Given the description of an element on the screen output the (x, y) to click on. 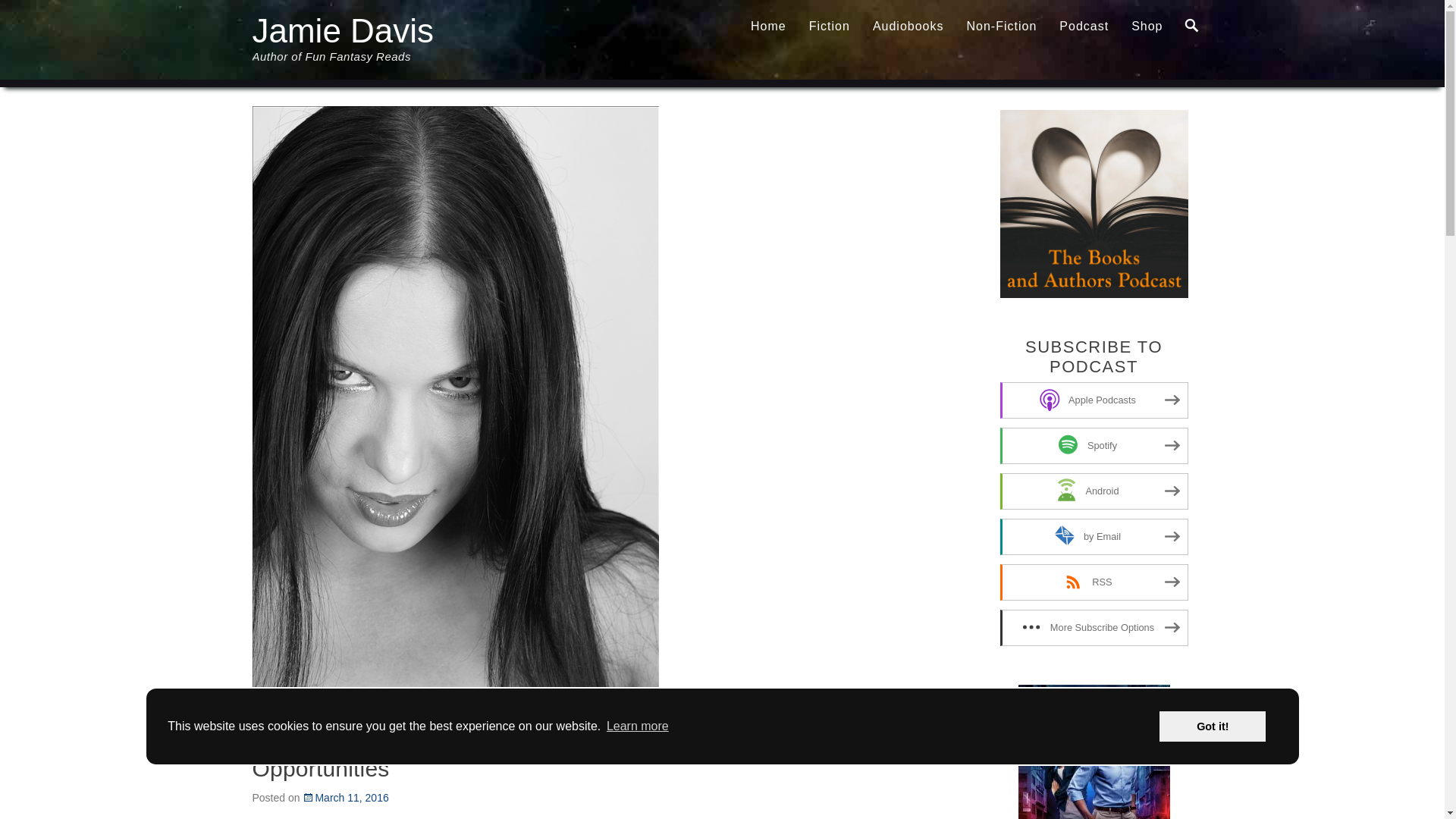
Home (768, 26)
Subscribe by Email (1093, 536)
Subscribe on Spotify (1093, 445)
Jamie Davis (342, 30)
Fiction (829, 26)
Audiobooks (908, 26)
Subscribe on Android (1093, 491)
Subscribe via RSS (1093, 582)
Shop (1146, 26)
Got it! (1211, 726)
Learn more (637, 725)
Non-Fiction (1001, 26)
Subscribe on Apple Podcasts (1093, 400)
Podcast (1083, 26)
